Given the description of an element on the screen output the (x, y) to click on. 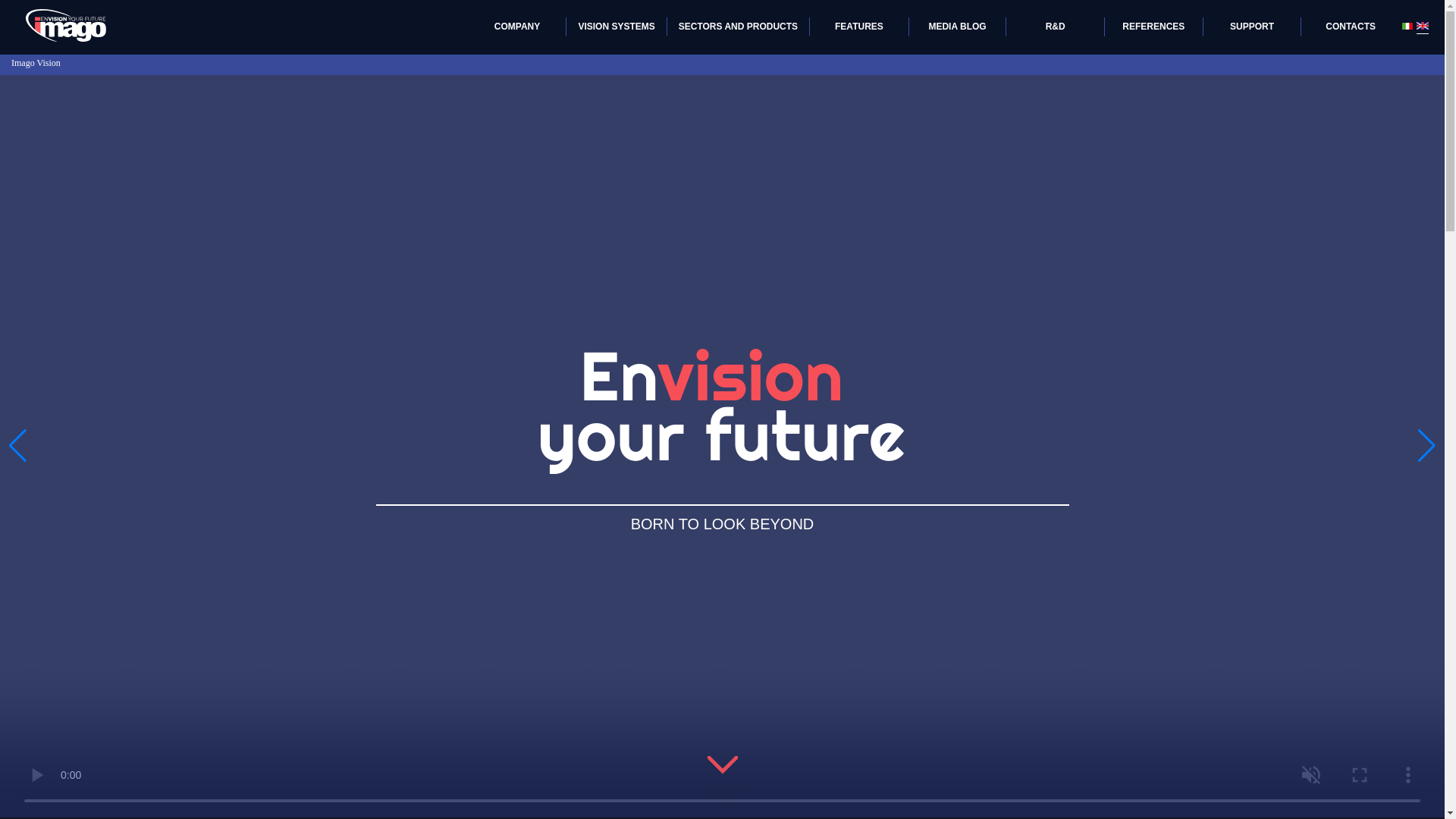
CONTACTS (1351, 31)
VISION SYSTEMS (615, 31)
SUPPORT (1252, 31)
FEATURES (858, 31)
COMPANY (517, 31)
SECTORS AND PRODUCTS (737, 31)
REFERENCES (1153, 31)
MEDIA BLOG (957, 31)
